Given the description of an element on the screen output the (x, y) to click on. 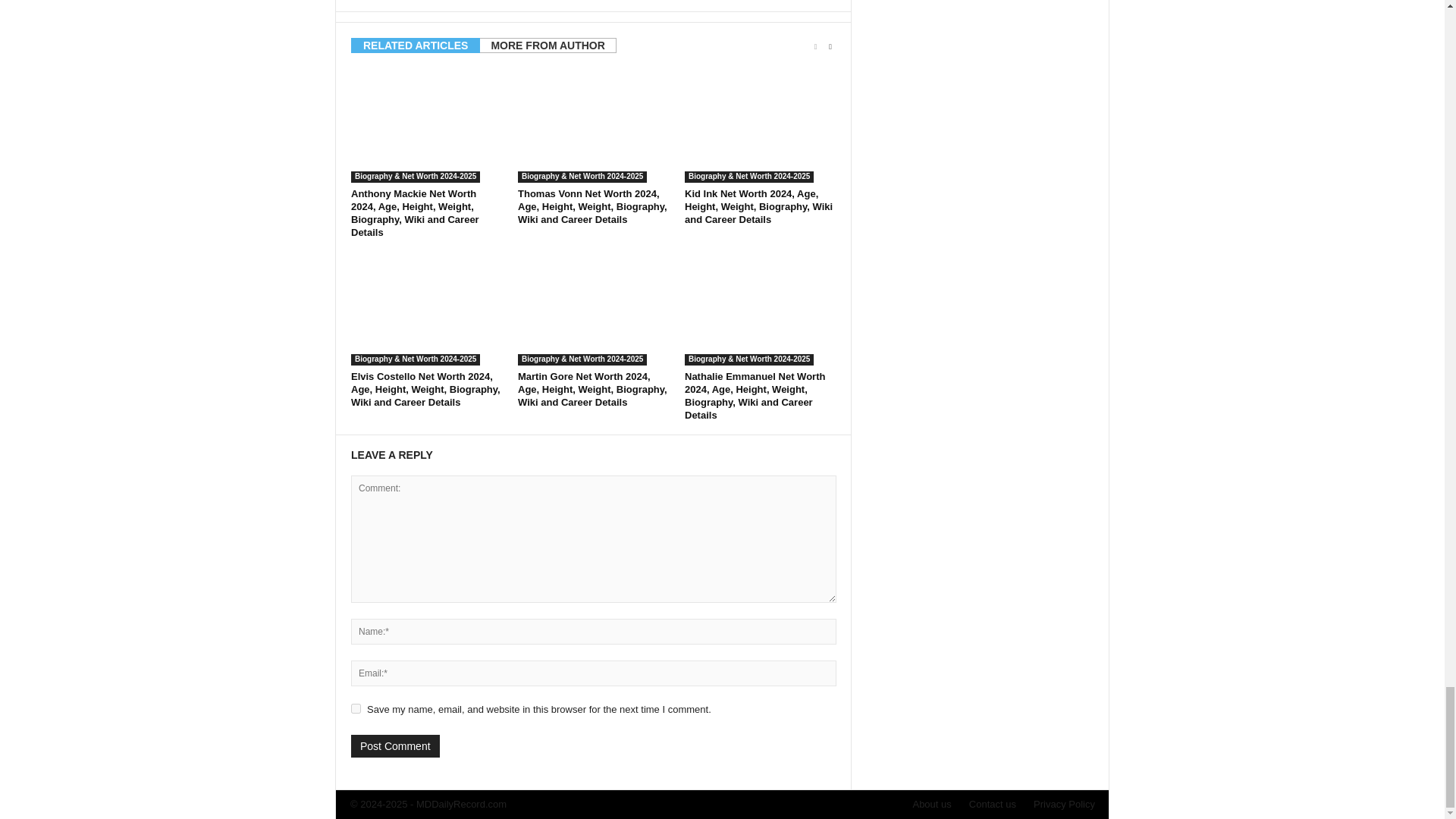
yes (355, 708)
MORE FROM AUTHOR (547, 45)
Post Comment (394, 745)
RELATED ARTICLES (415, 45)
